Given the description of an element on the screen output the (x, y) to click on. 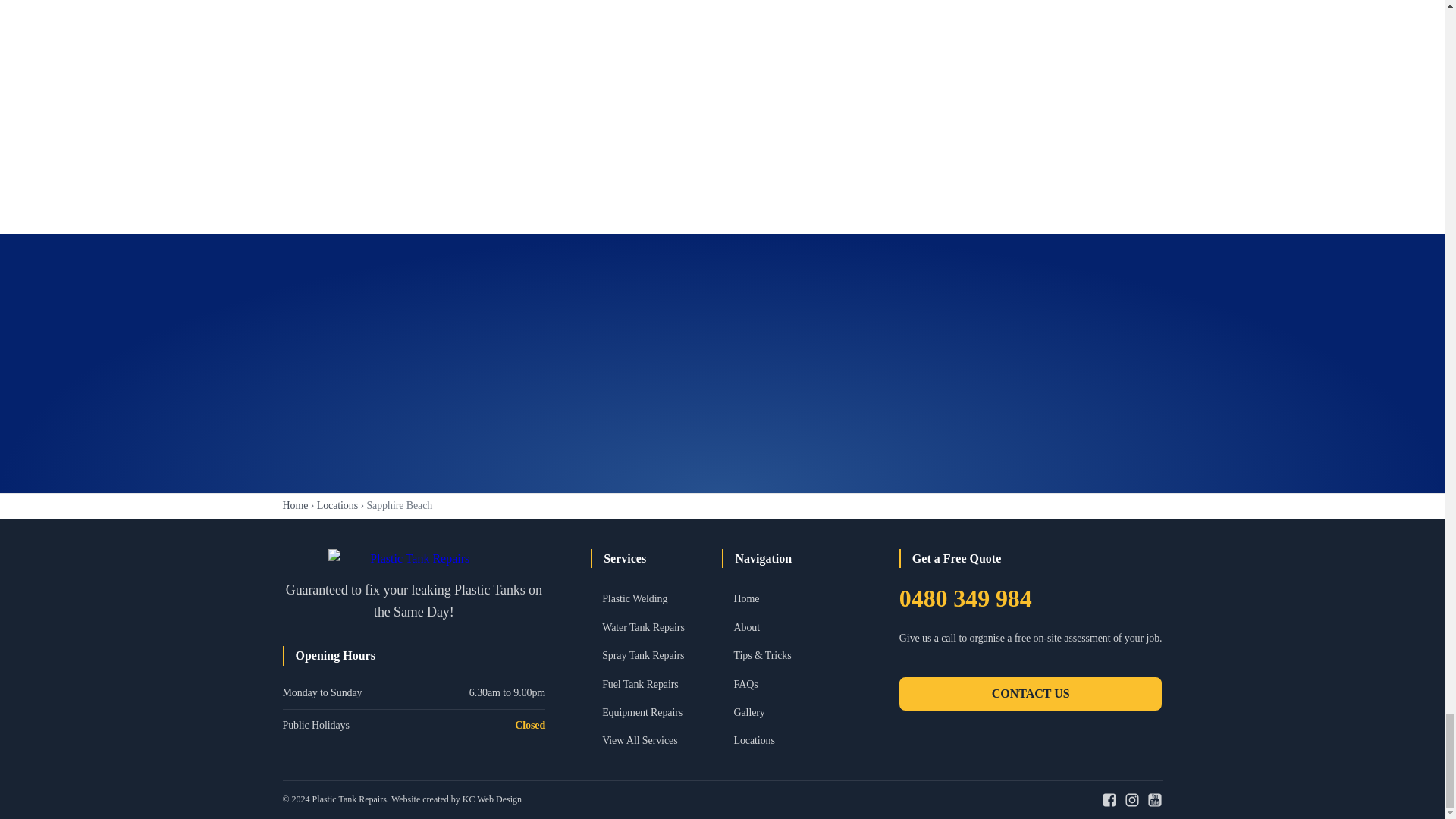
View All Services (656, 740)
Home (787, 598)
Plastic Welding (656, 598)
Fuel Tank Repairs (656, 684)
Locations (337, 505)
About (787, 627)
FAQs (787, 684)
Home (294, 505)
Water Tank Repairs (656, 627)
Equipment Repairs (656, 712)
Spray Tank Repairs (656, 655)
